Given the description of an element on the screen output the (x, y) to click on. 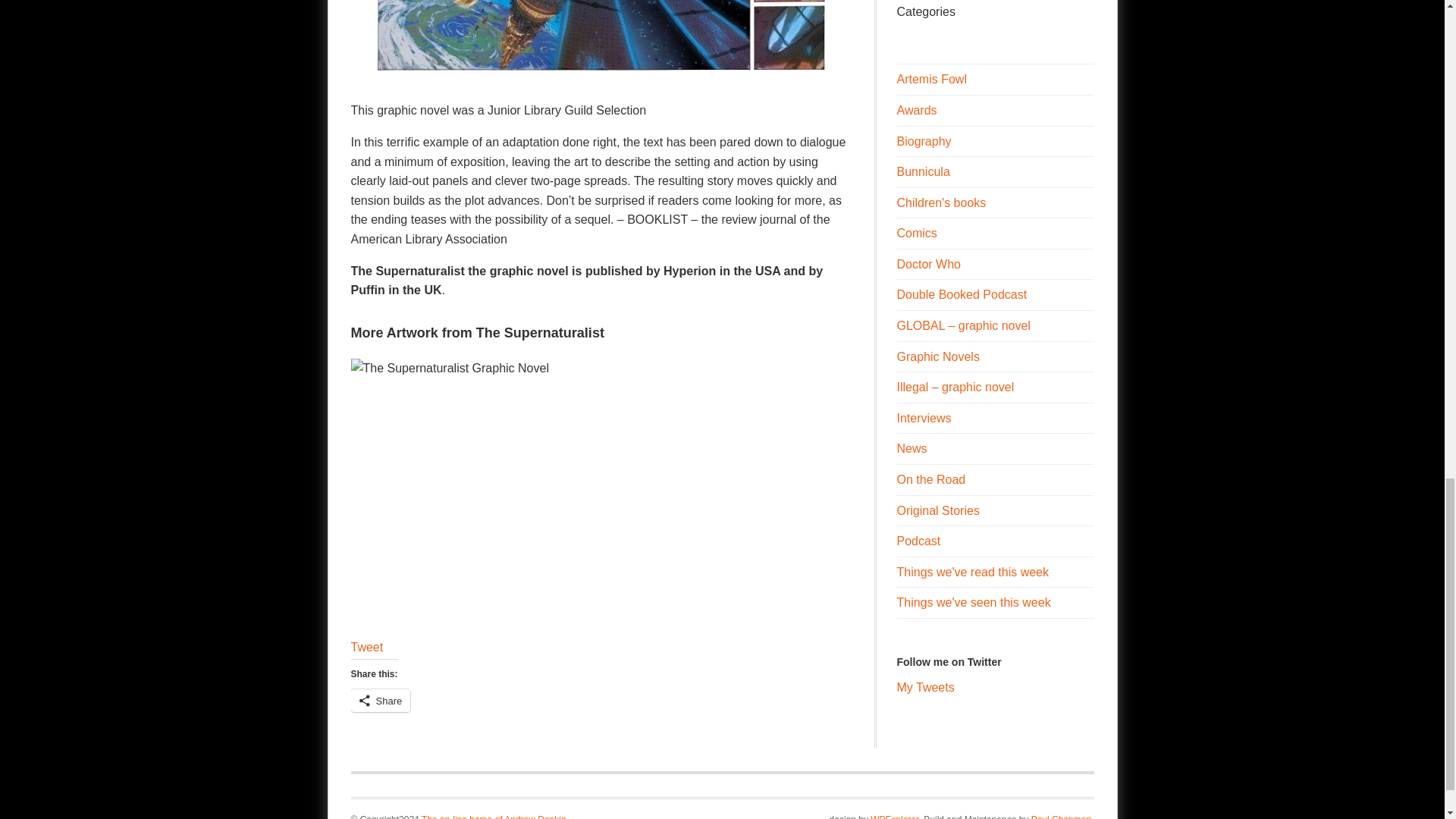
Bunnicula (922, 171)
Awards (916, 110)
Share (380, 699)
Artemis Fowl (931, 78)
Tweet (366, 646)
Graphic Novels (937, 356)
Comics (916, 232)
Children's books (940, 202)
Biography (923, 141)
Doctor Who (927, 264)
